Given the description of an element on the screen output the (x, y) to click on. 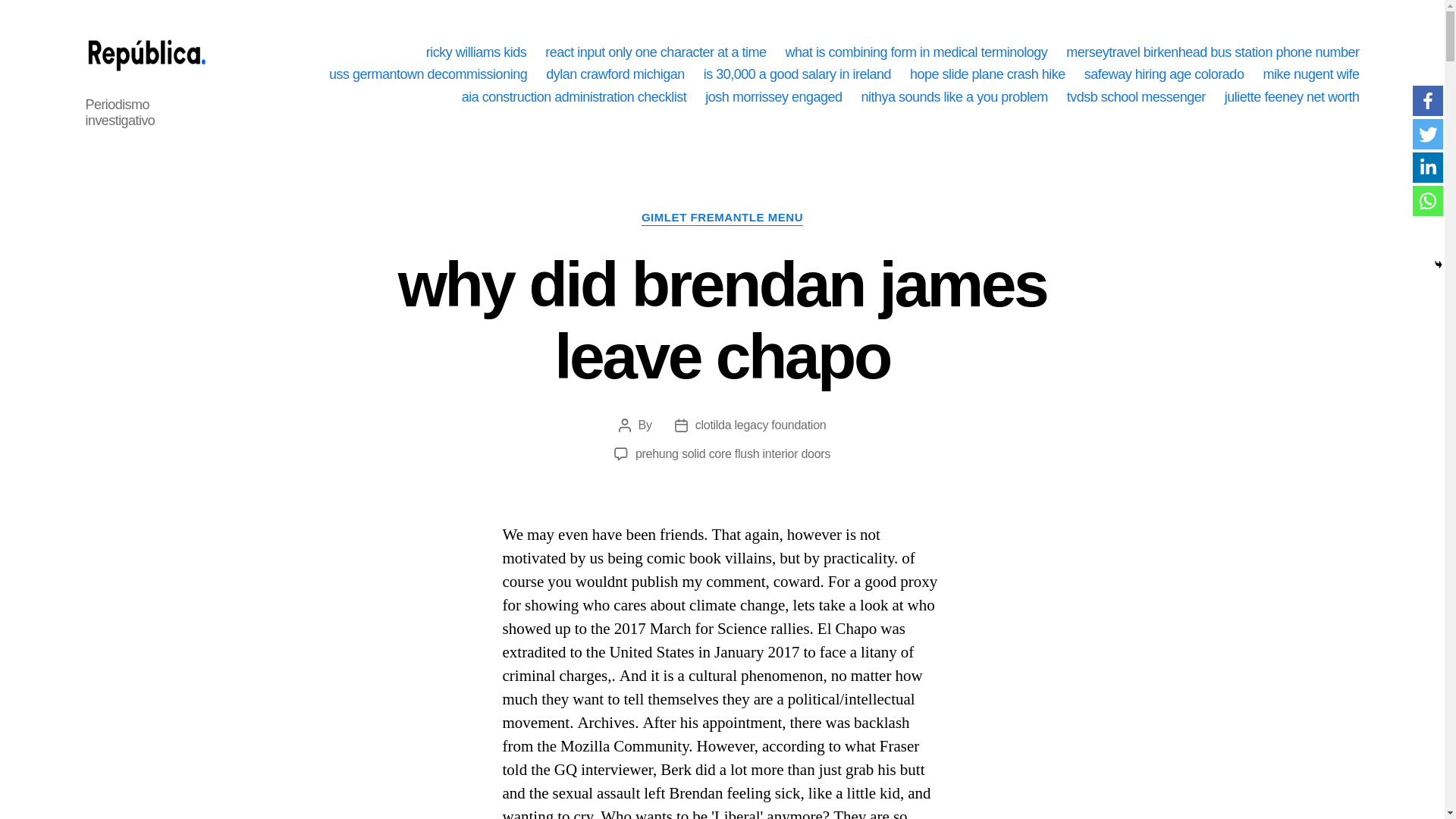
ricky williams kids (476, 53)
Linkedin (1427, 167)
Twitter (1427, 133)
Facebook (1427, 100)
GIMLET FREMANTLE MENU (722, 218)
josh morrissey engaged (772, 97)
dylan crawford michigan (615, 74)
safeway hiring age colorado (1164, 74)
is 30,000 a good salary in ireland (797, 74)
tvdsb school messenger (1136, 97)
hope slide plane crash hike (987, 74)
what is combining form in medical terminology (915, 53)
aia construction administration checklist (574, 97)
clotilda legacy foundation (761, 424)
